Given the description of an element on the screen output the (x, y) to click on. 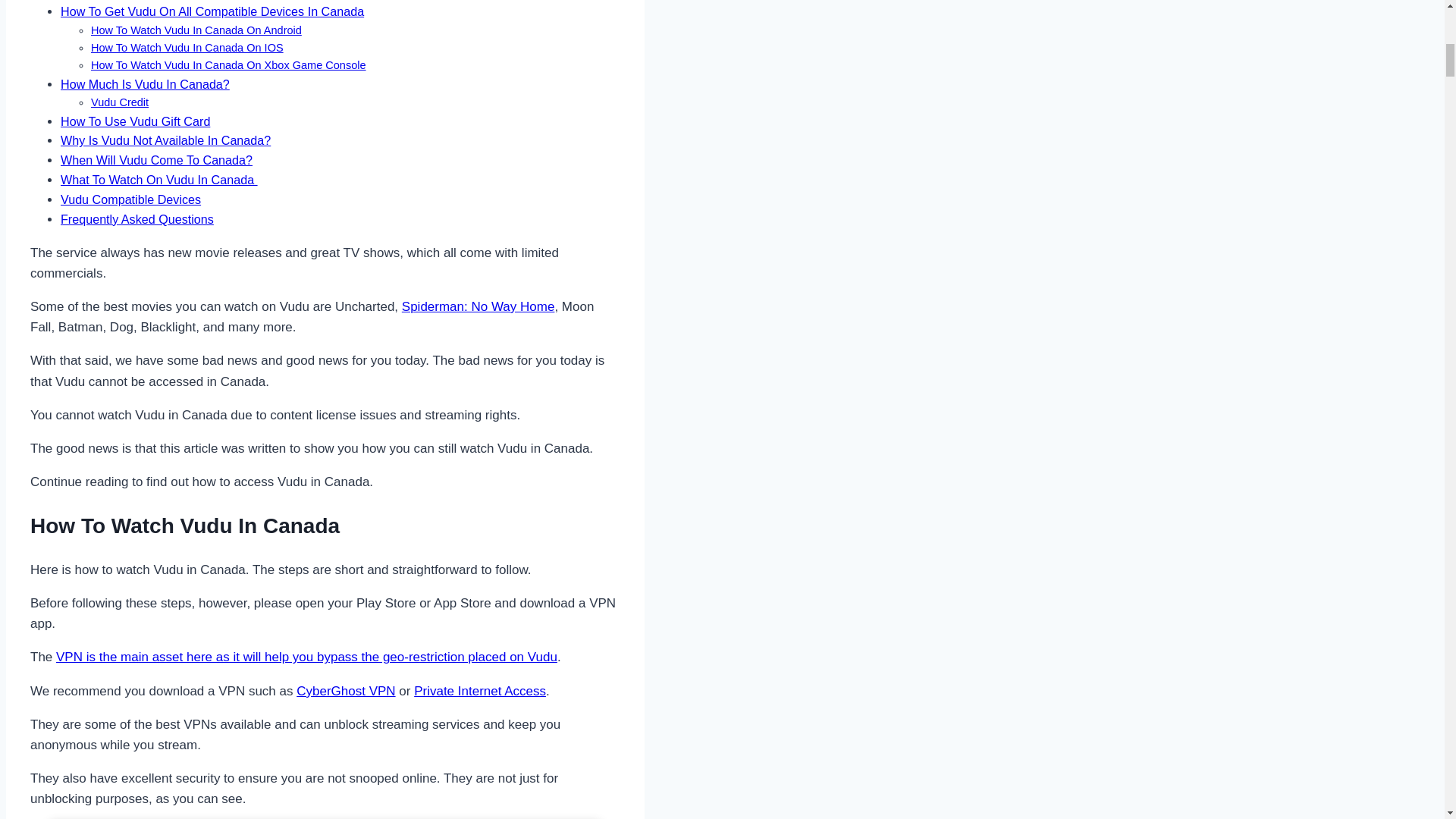
CyberGhost VPN (345, 690)
What To Watch On Vudu In Canada  (159, 179)
How To Get Vudu On All Compatible Devices In Canada (212, 11)
How Much Is Vudu In Canada? (145, 83)
When Will Vudu Come To Canada? (156, 160)
How To Watch Vudu In Canada On IOS (186, 47)
How To Use Vudu Gift Card (135, 120)
Frequently Asked Questions (137, 219)
How To Watch Vudu In Canada On Android (195, 30)
How To Watch Vudu In Canada On Android (195, 30)
